Given the description of an element on the screen output the (x, y) to click on. 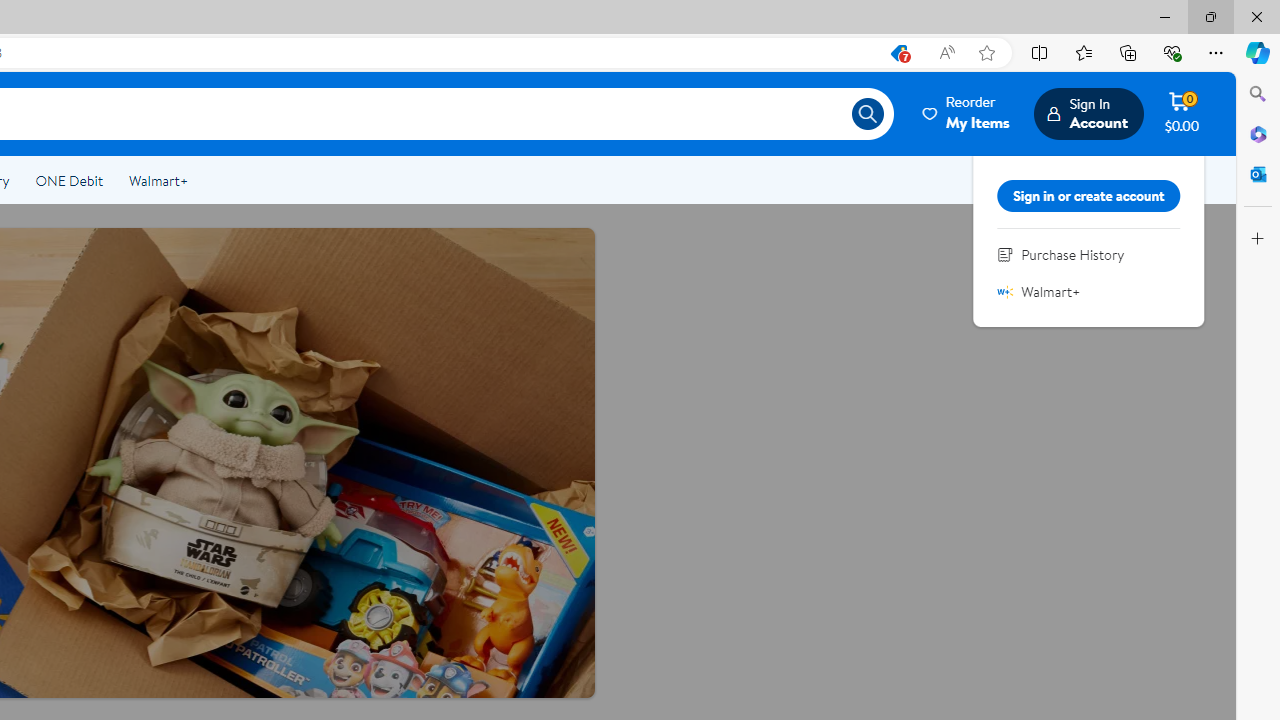
Walmart+ Walmart+ (1089, 292)
